Given the description of an element on the screen output the (x, y) to click on. 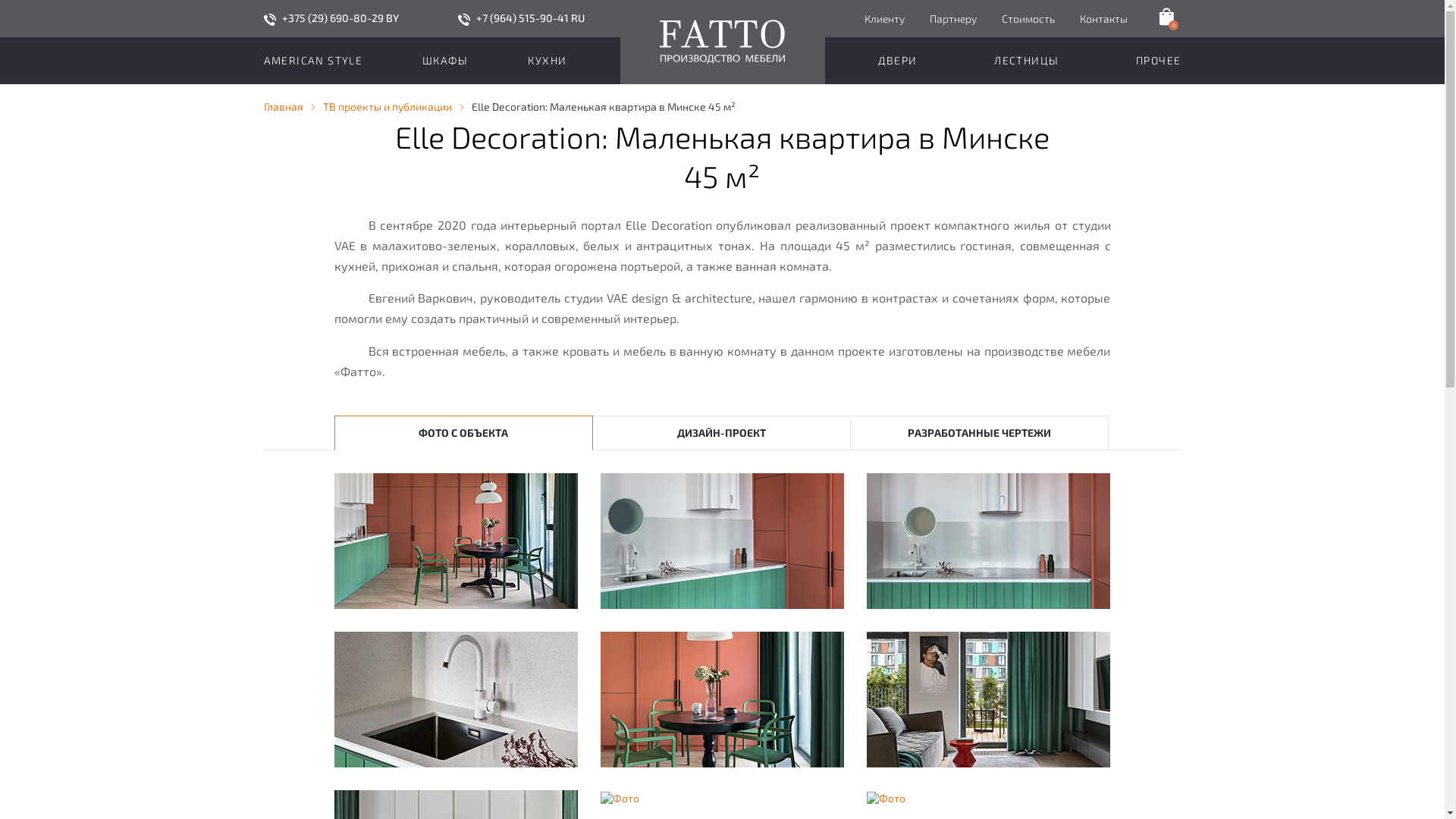
AMERICAN STYLE Element type: text (313, 59)
0 Element type: text (1165, 16)
+7 (964) 515-90-41 RU Element type: text (530, 17)
+375 (29) 690-80-29 BY Element type: text (340, 17)
